Given the description of an element on the screen output the (x, y) to click on. 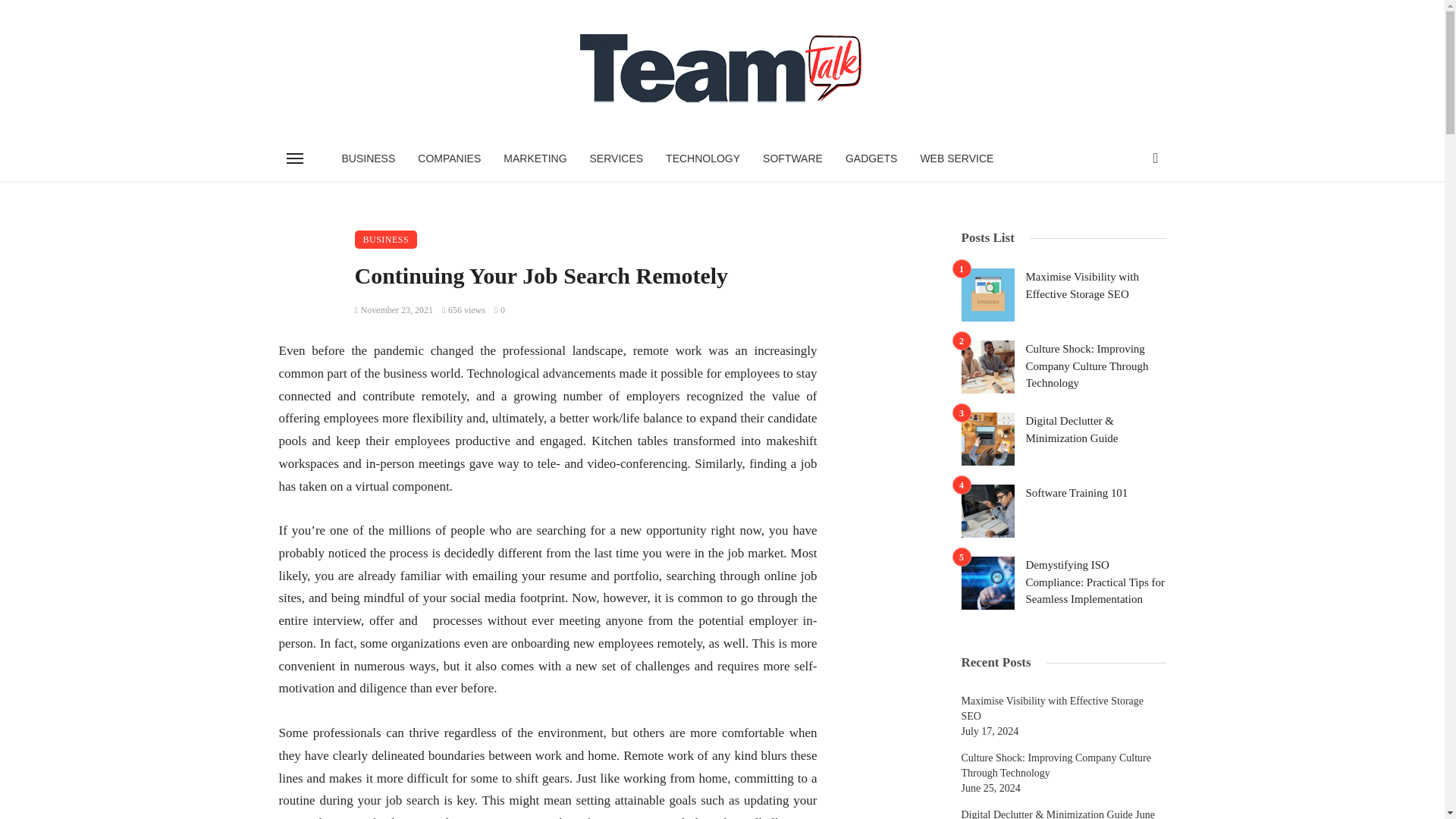
SOFTWARE (792, 157)
0 (500, 309)
BUSINESS (386, 239)
WEB SERVICE (956, 157)
November 23, 2021 at 1:01 pm (394, 309)
TECHNOLOGY (702, 157)
COMPANIES (449, 157)
GADGETS (871, 157)
0 Comments (500, 309)
BUSINESS (368, 157)
MARKETING (535, 157)
SERVICES (616, 157)
